Given the description of an element on the screen output the (x, y) to click on. 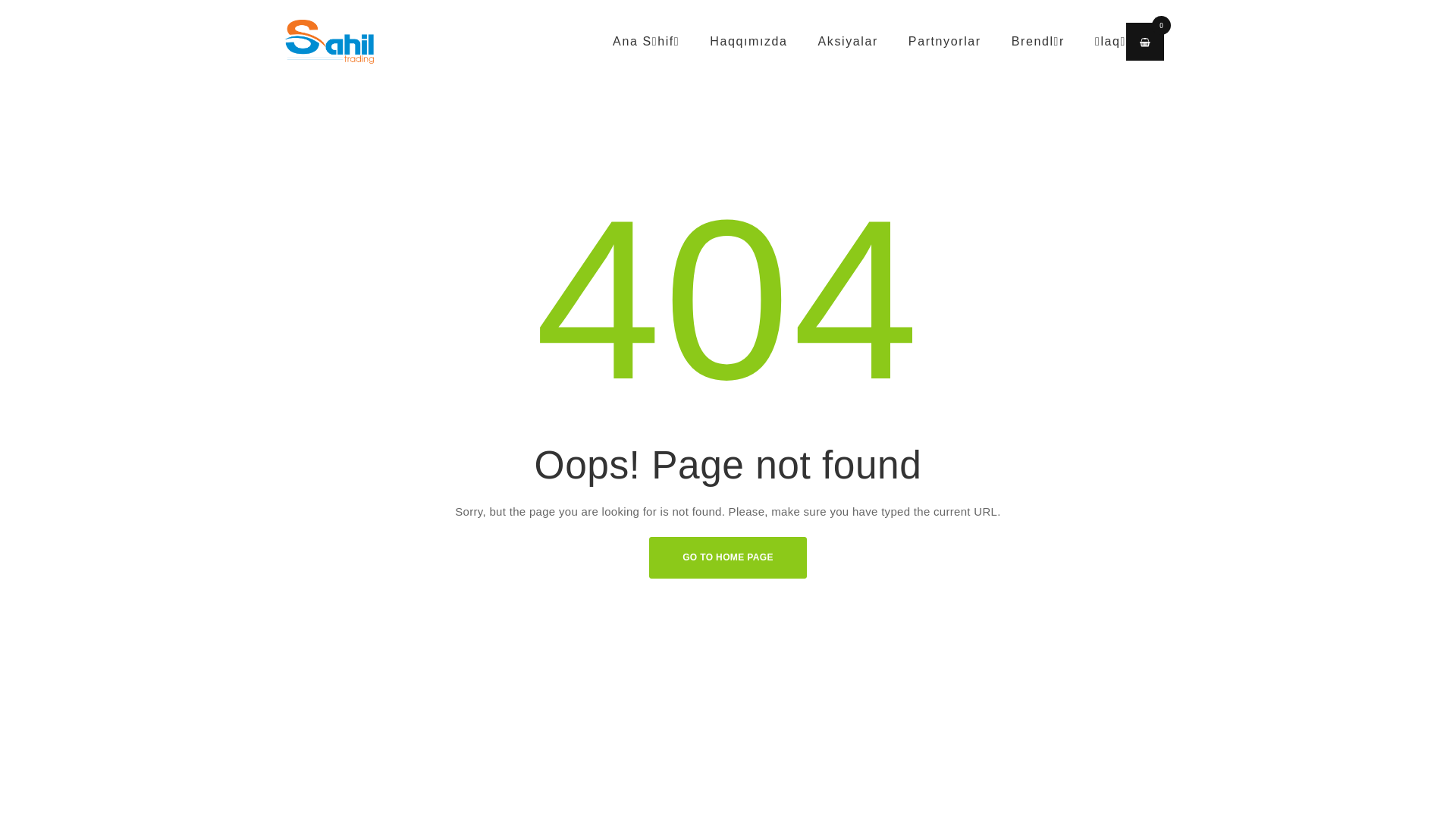
Partnyorlar Element type: text (944, 41)
GO TO HOME PAGE Element type: text (727, 557)
0 Element type: text (1145, 41)
Sahil Trading- Element type: hover (328, 41)
Aksiyalar Element type: text (848, 41)
